Given the description of an element on the screen output the (x, y) to click on. 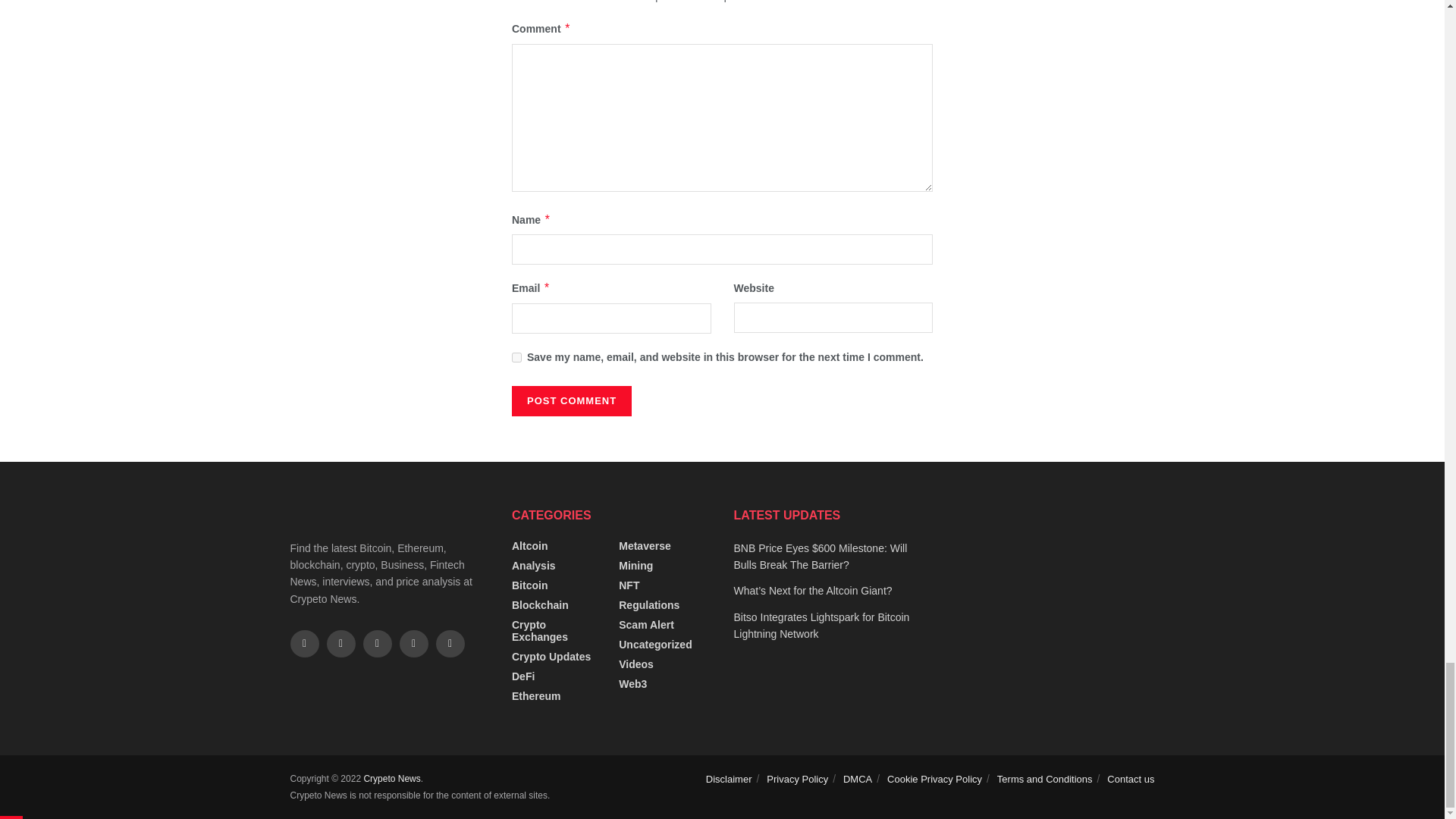
Crypeto News (391, 778)
yes (516, 357)
Post Comment (571, 400)
